Given the description of an element on the screen output the (x, y) to click on. 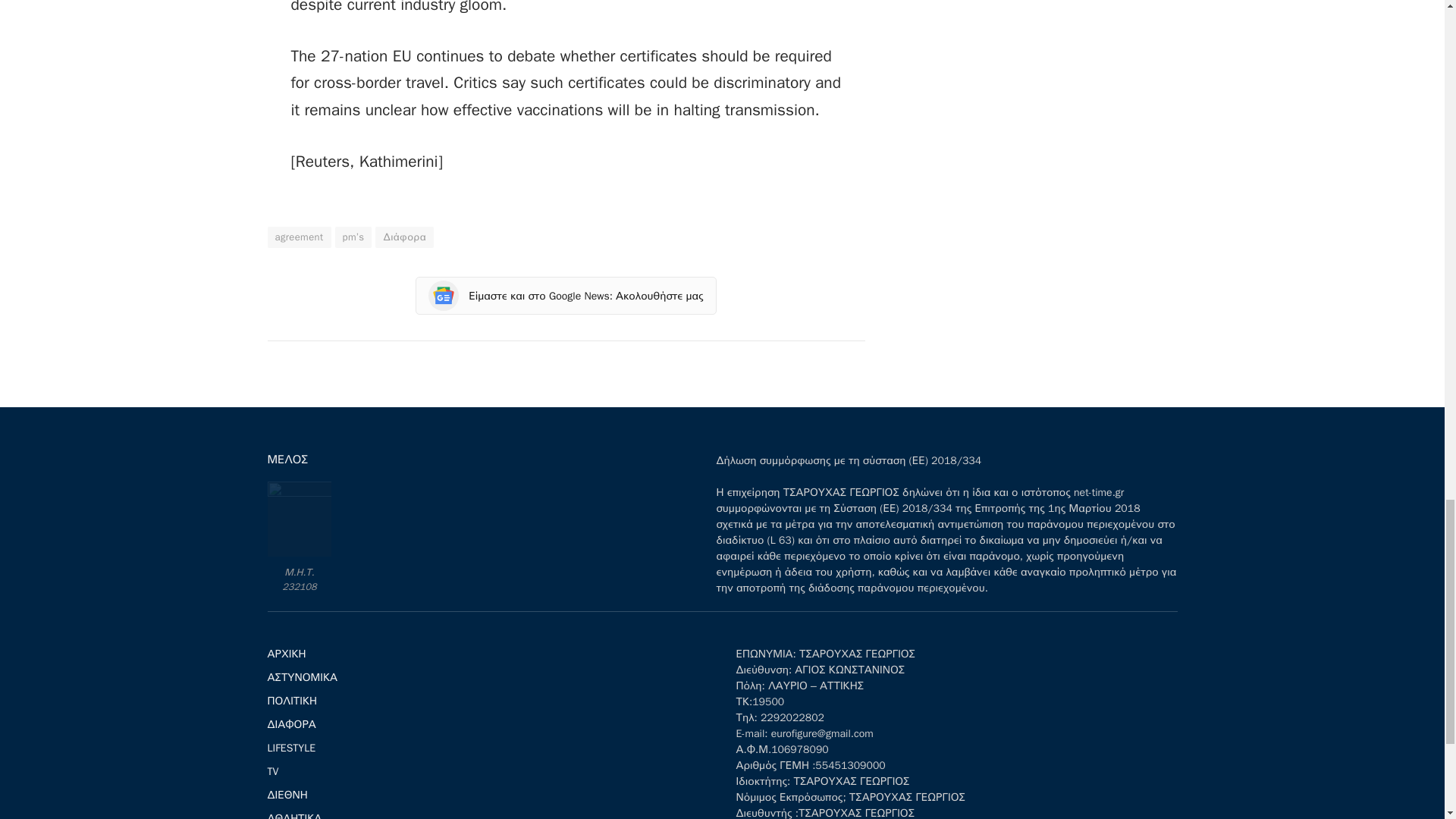
agreement (298, 237)
